Given the description of an element on the screen output the (x, y) to click on. 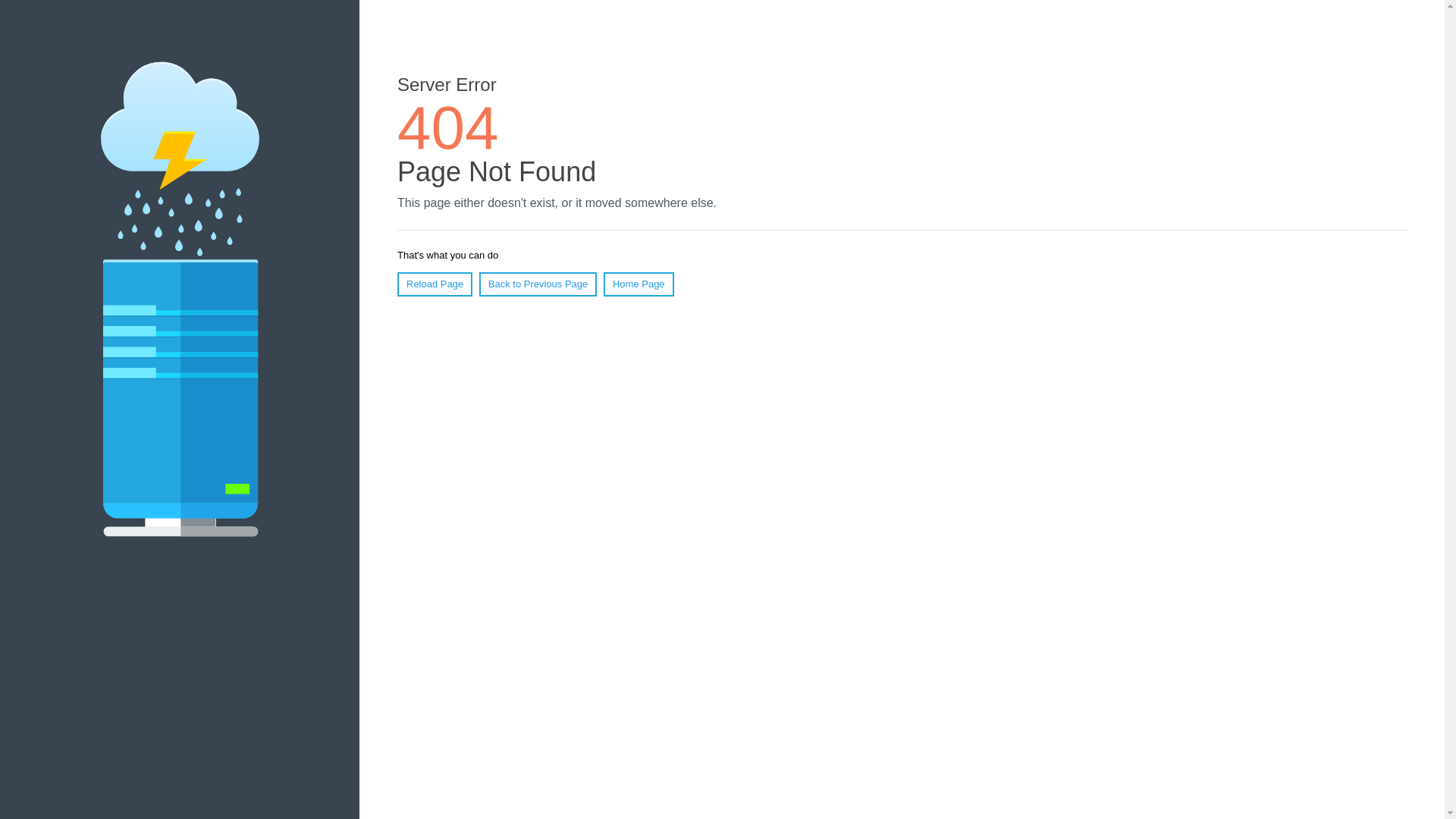
Back to Previous Page Element type: text (538, 284)
Home Page Element type: text (638, 284)
Reload Page Element type: text (434, 284)
